Given the description of an element on the screen output the (x, y) to click on. 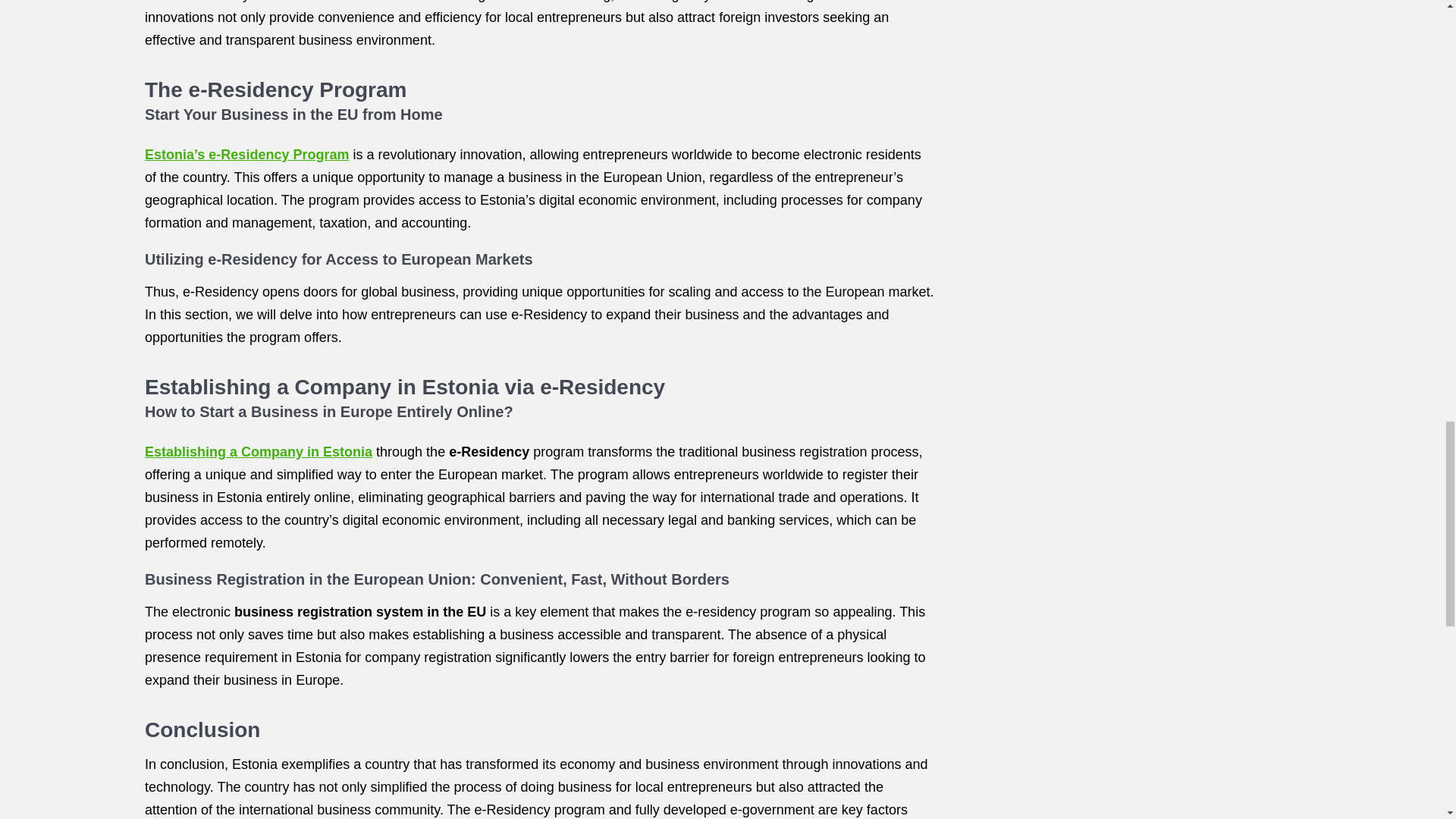
Establishing a Company in Estonia (258, 451)
